Given the description of an element on the screen output the (x, y) to click on. 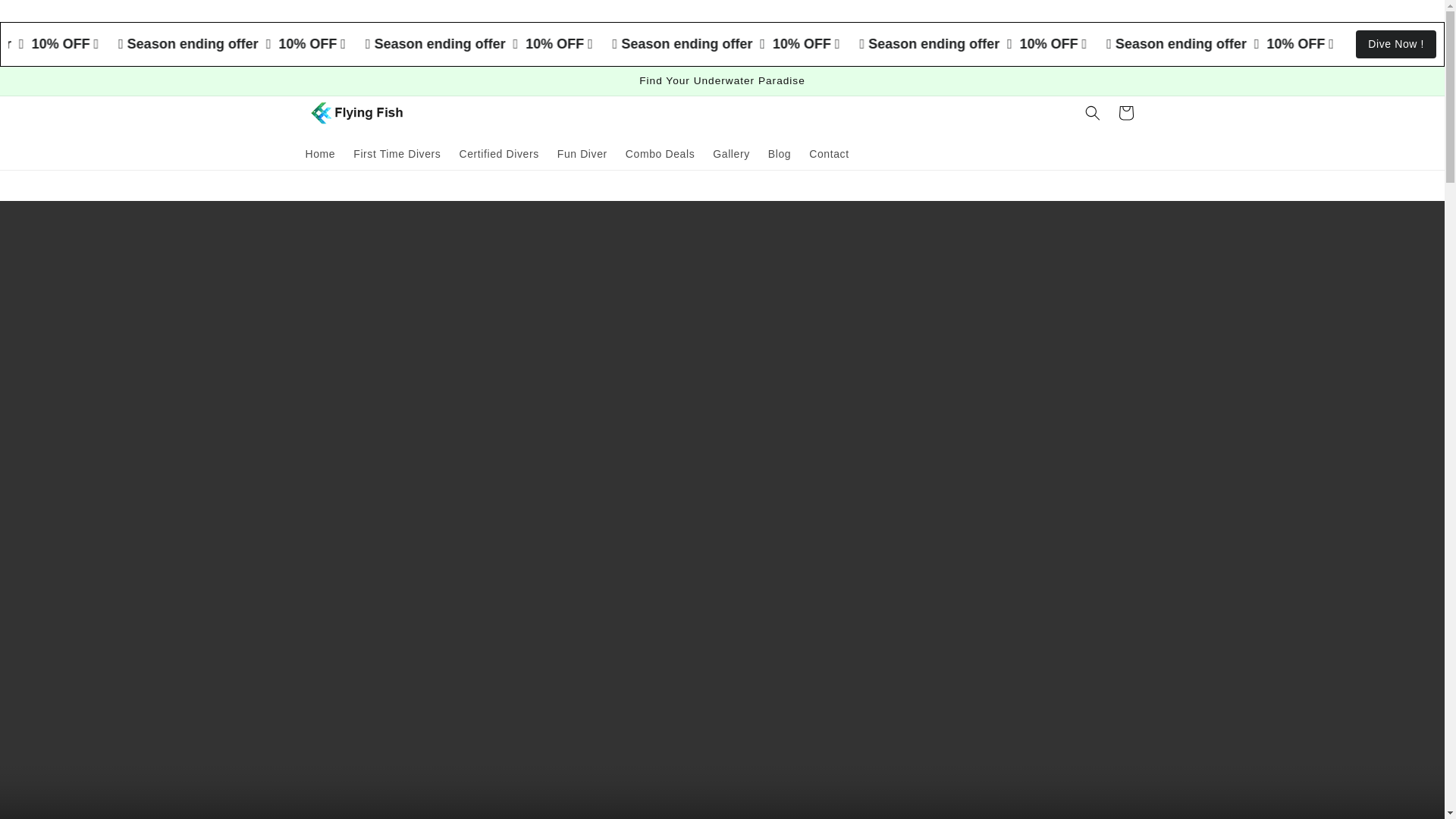
Certified Divers (498, 153)
Cart (1124, 112)
Skip to content (45, 17)
Combo Deals (659, 153)
Dive Now ! (1395, 44)
Home (319, 153)
Fun Diver (581, 153)
Contact (828, 153)
Gallery (730, 153)
First Time Divers (396, 153)
Blog (778, 153)
